Given the description of an element on the screen output the (x, y) to click on. 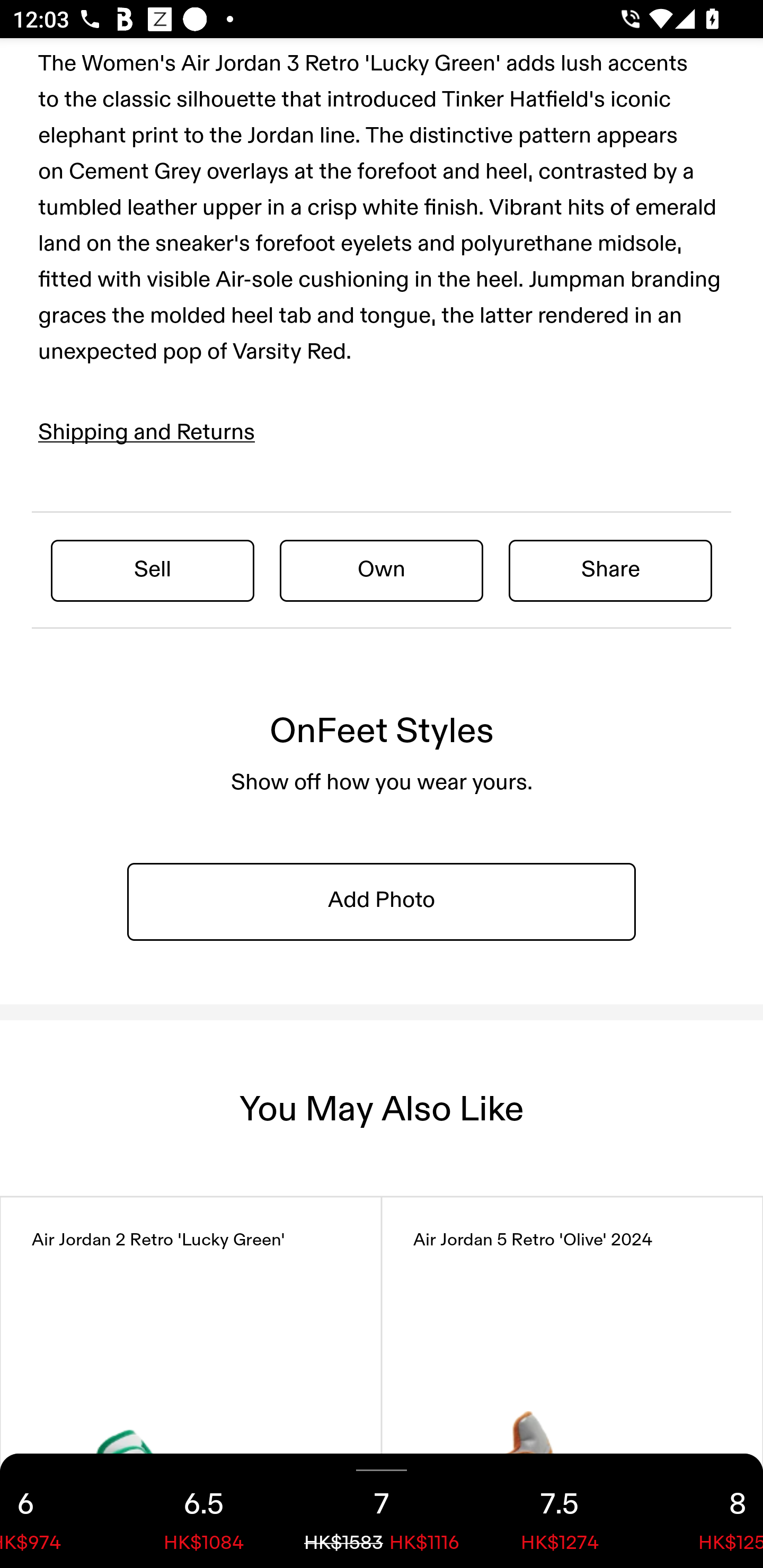
Shipping and Returns (146, 431)
Sell (152, 569)
Own (381, 569)
Share (609, 569)
Add Photo (381, 900)
Air Jordan 2 Retro 'Lucky Green' (190, 1382)
Air Jordan 5 Retro 'Olive' 2024 (572, 1382)
6 HK$974 (57, 1510)
6.5 HK$1084 (203, 1510)
7 HK$1583 HK$1116 (381, 1510)
7.5 HK$1274 (559, 1510)
8 HK$1250 (705, 1510)
